Given the description of an element on the screen output the (x, y) to click on. 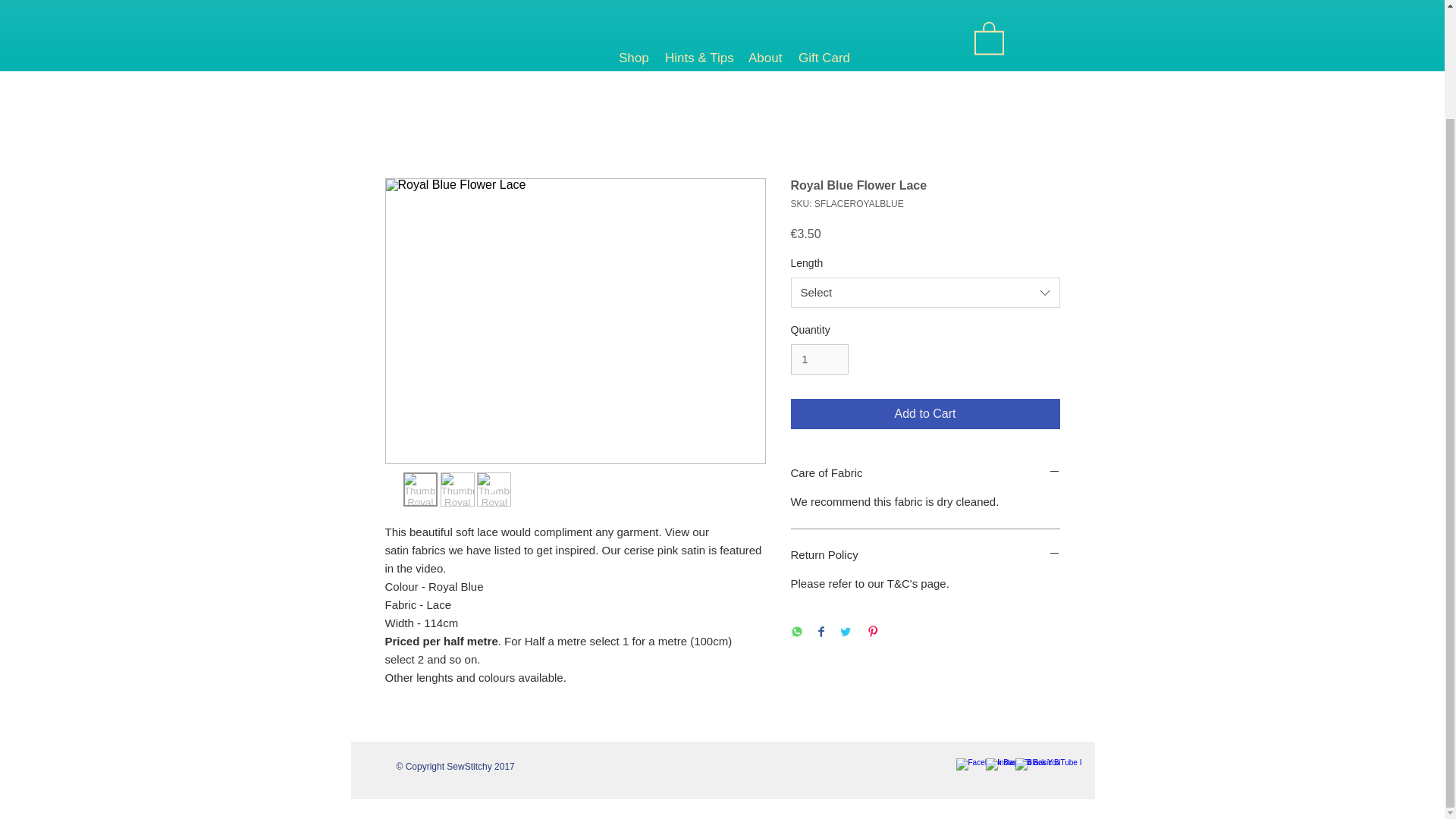
Gift Card (821, 58)
Add to Cart (924, 413)
Return Policy (924, 554)
Select (924, 292)
1 (818, 359)
Care of Fabric (924, 473)
